Given the description of an element on the screen output the (x, y) to click on. 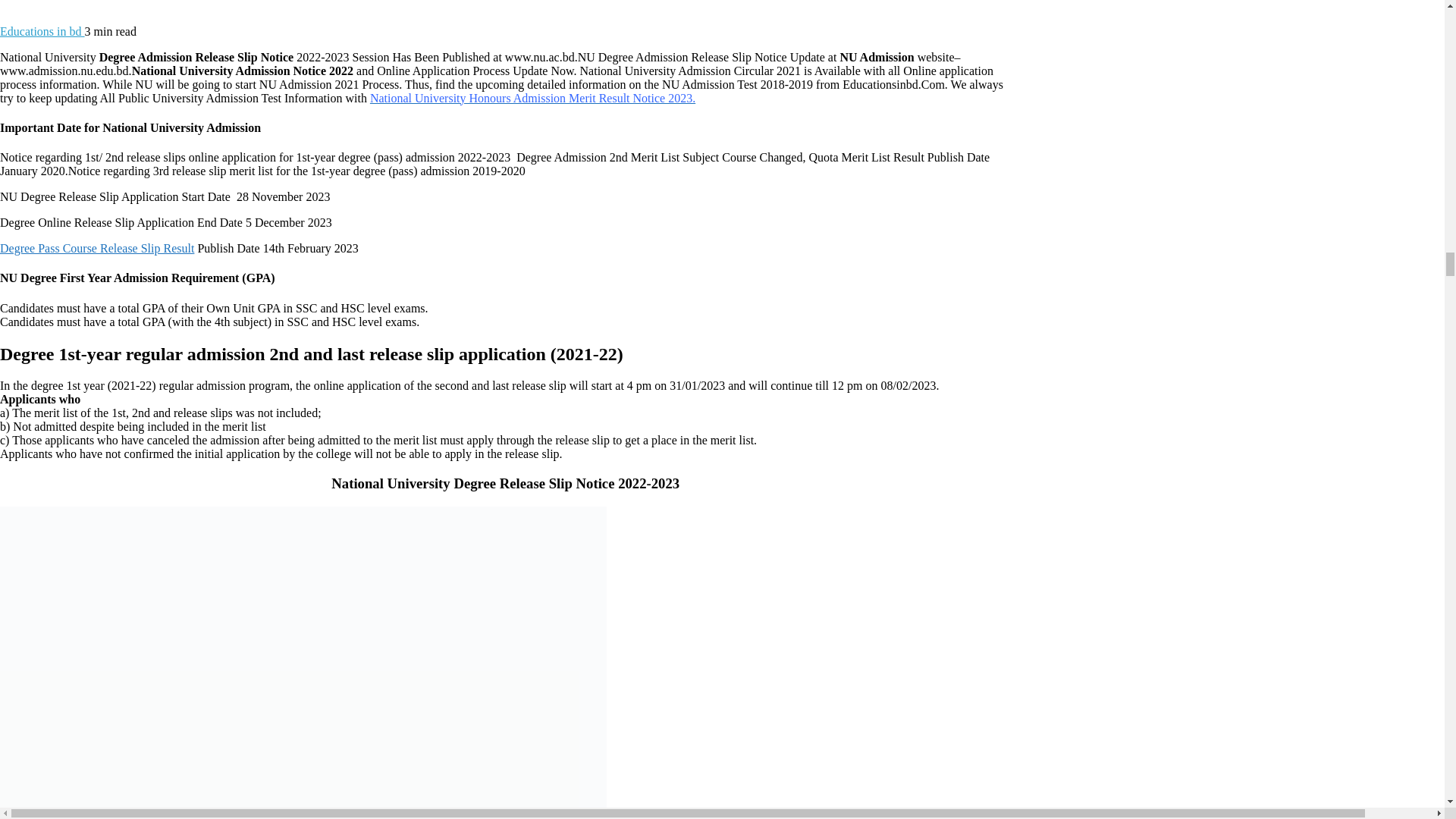
Educations in bd (42, 31)
Educations in bd (42, 31)
Degree Pass Course Release Slip Result (96, 247)
